Given the description of an element on the screen output the (x, y) to click on. 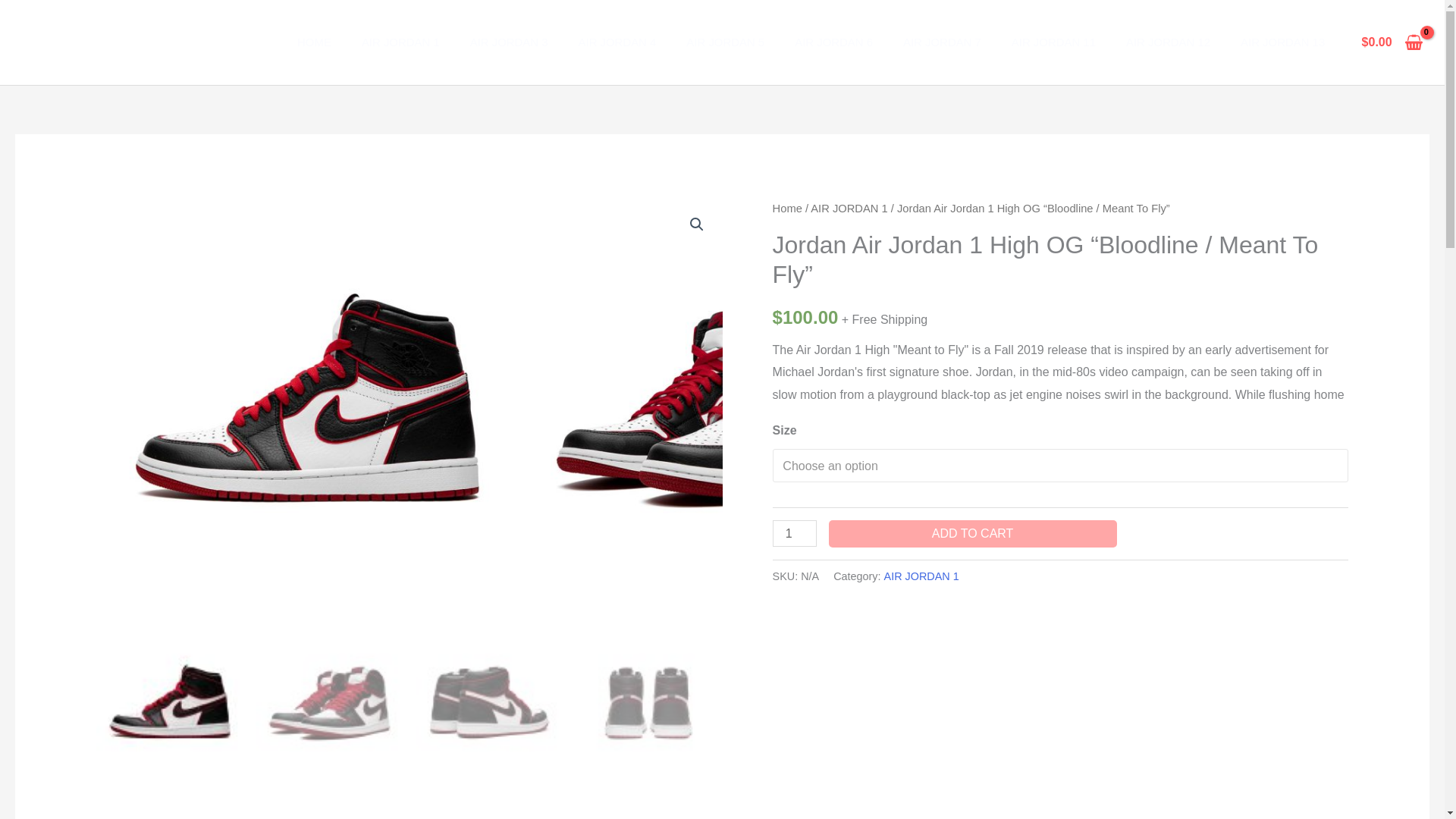
AIR JORDAN 1 (848, 208)
AIR JORDAN 5 (724, 42)
AIR JORDAN 3 (508, 42)
1 (794, 533)
AIR JORDAN 4 (617, 42)
AIR JORDAN 12 (1167, 42)
ADD TO CART (972, 533)
HOME (314, 42)
AIR JORDAN 13 (1282, 42)
AIR JORDAN 11 (1052, 42)
AIR JORDAN 1 (400, 42)
AIR JORDAN 6 (833, 42)
AIR JORDAN 1 (921, 576)
Home (787, 208)
